Given the description of an element on the screen output the (x, y) to click on. 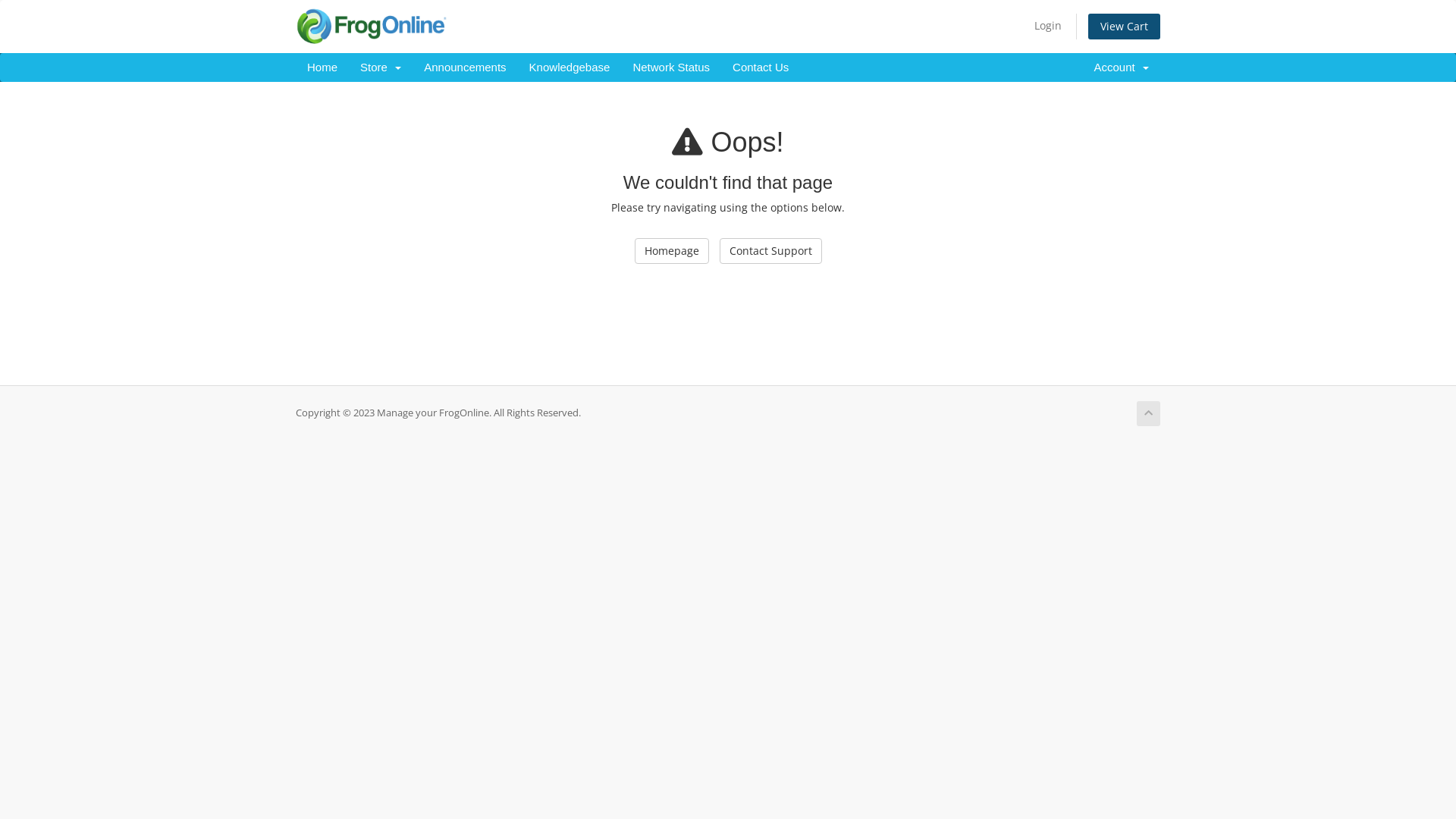
Home Element type: text (321, 67)
Contact Us Element type: text (760, 67)
Homepage Element type: text (670, 250)
Knowledgebase Element type: text (569, 67)
Announcements Element type: text (464, 67)
Login Element type: text (1047, 25)
Account   Element type: text (1121, 67)
Contact Support Element type: text (769, 250)
Network Status Element type: text (671, 67)
Store   Element type: text (380, 67)
View Cart Element type: text (1124, 26)
